Given the description of an element on the screen output the (x, y) to click on. 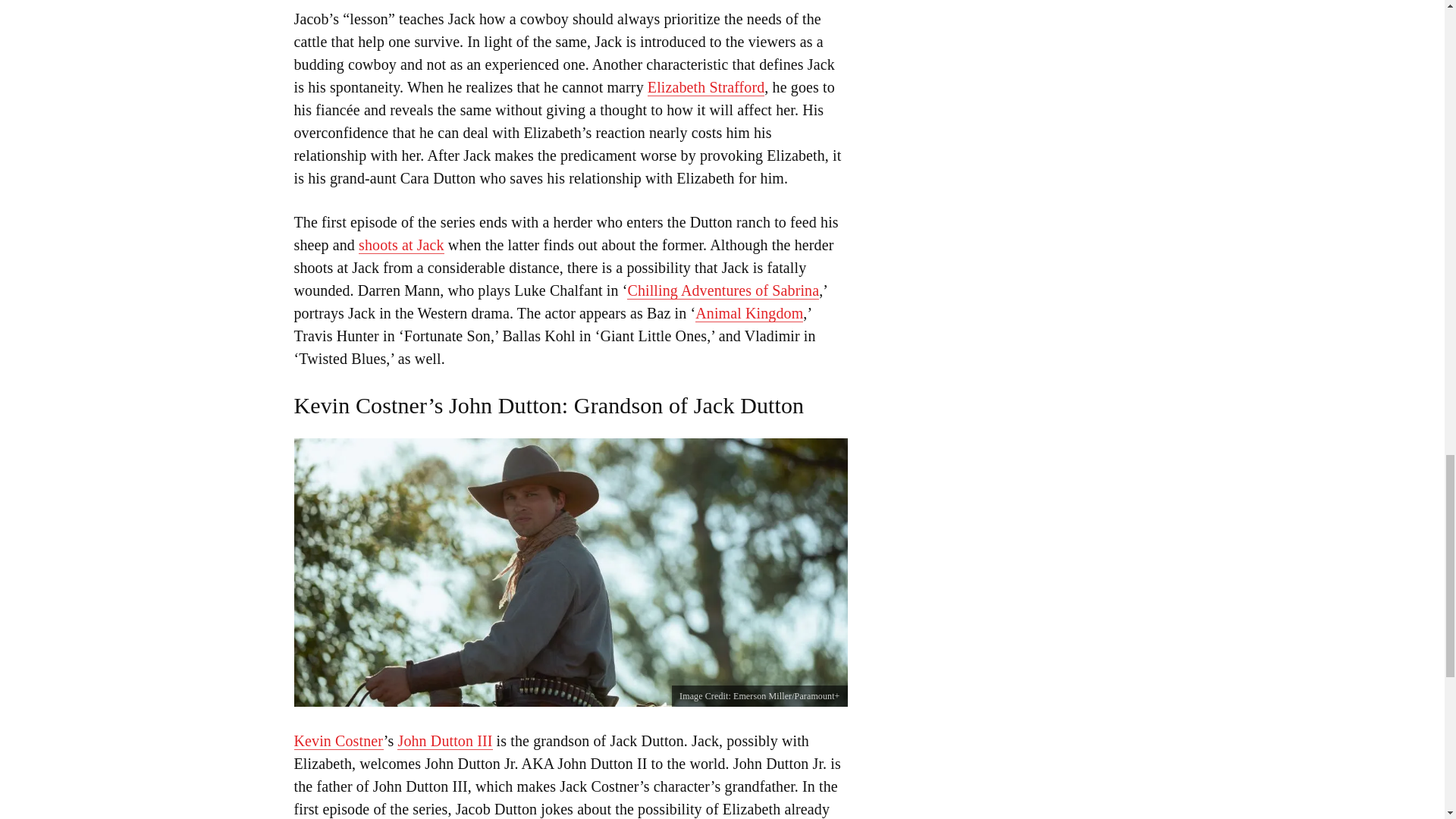
Kevin Costner (339, 741)
Animal Kingdom (749, 313)
John Dutton III (444, 741)
Elizabeth Strafford (705, 87)
Chilling Adventures of Sabrina (722, 290)
shoots at Jack (401, 244)
